Given the description of an element on the screen output the (x, y) to click on. 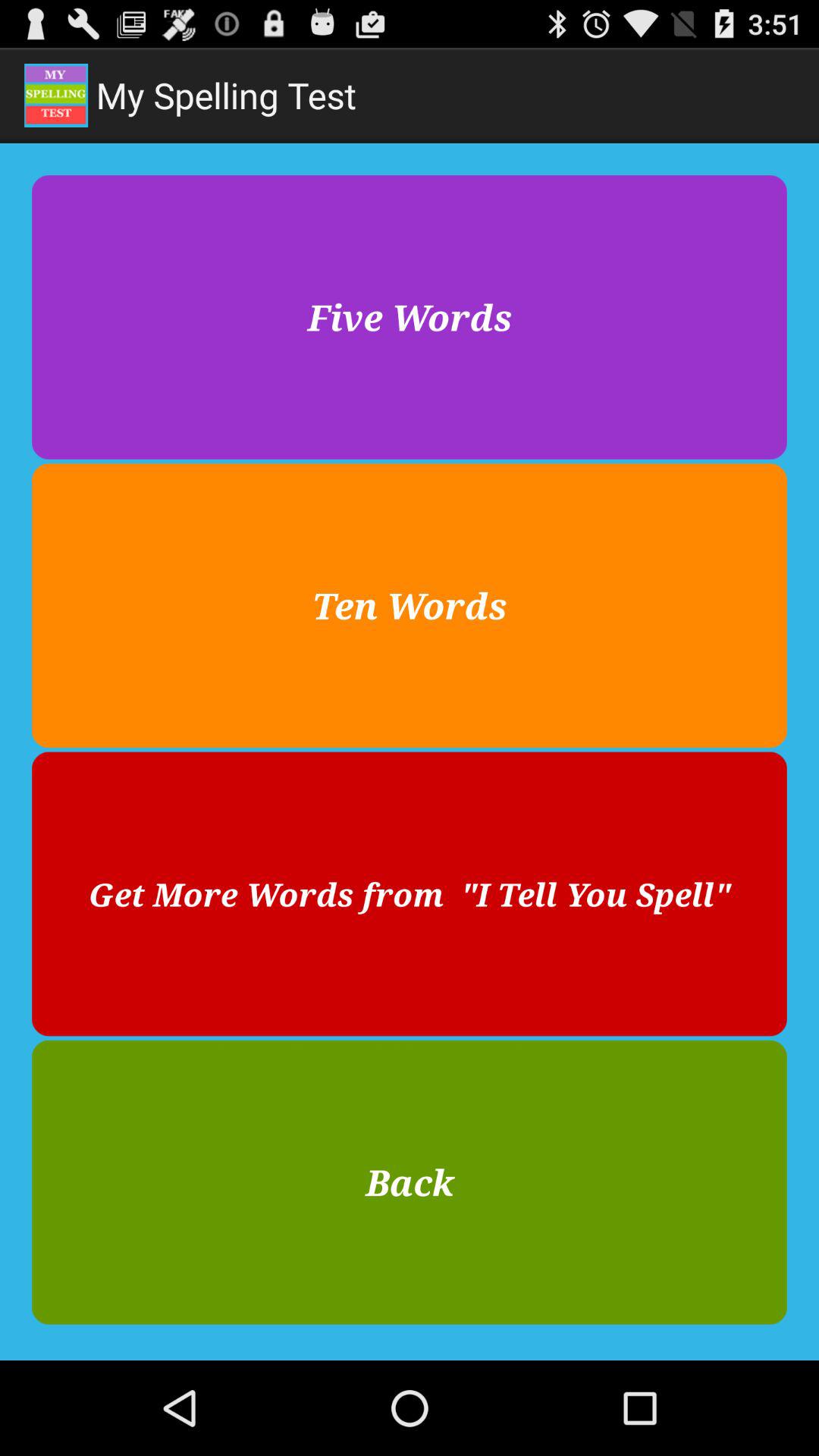
click button above get more words (409, 605)
